Given the description of an element on the screen output the (x, y) to click on. 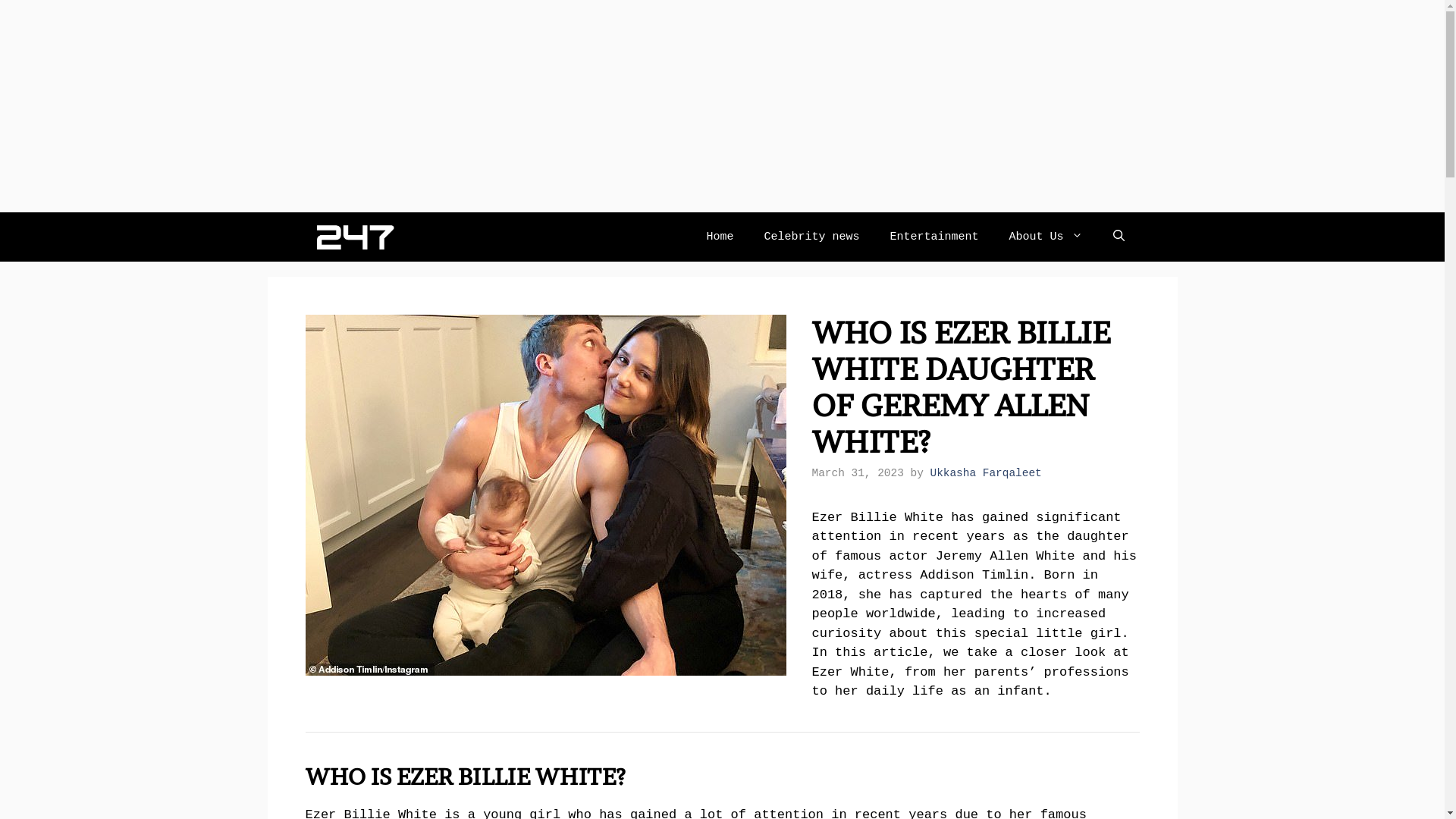
Entertainment Element type: text (933, 236)
White Element type: text (923, 517)
Advertisement Element type: hover (455, 106)
Home Element type: text (719, 236)
Celebrity news Element type: text (811, 236)
Ukkasha Farqaleet Element type: text (985, 473)
247 Prime News Element type: hover (352, 236)
About Us Element type: text (1045, 236)
